Given the description of an element on the screen output the (x, y) to click on. 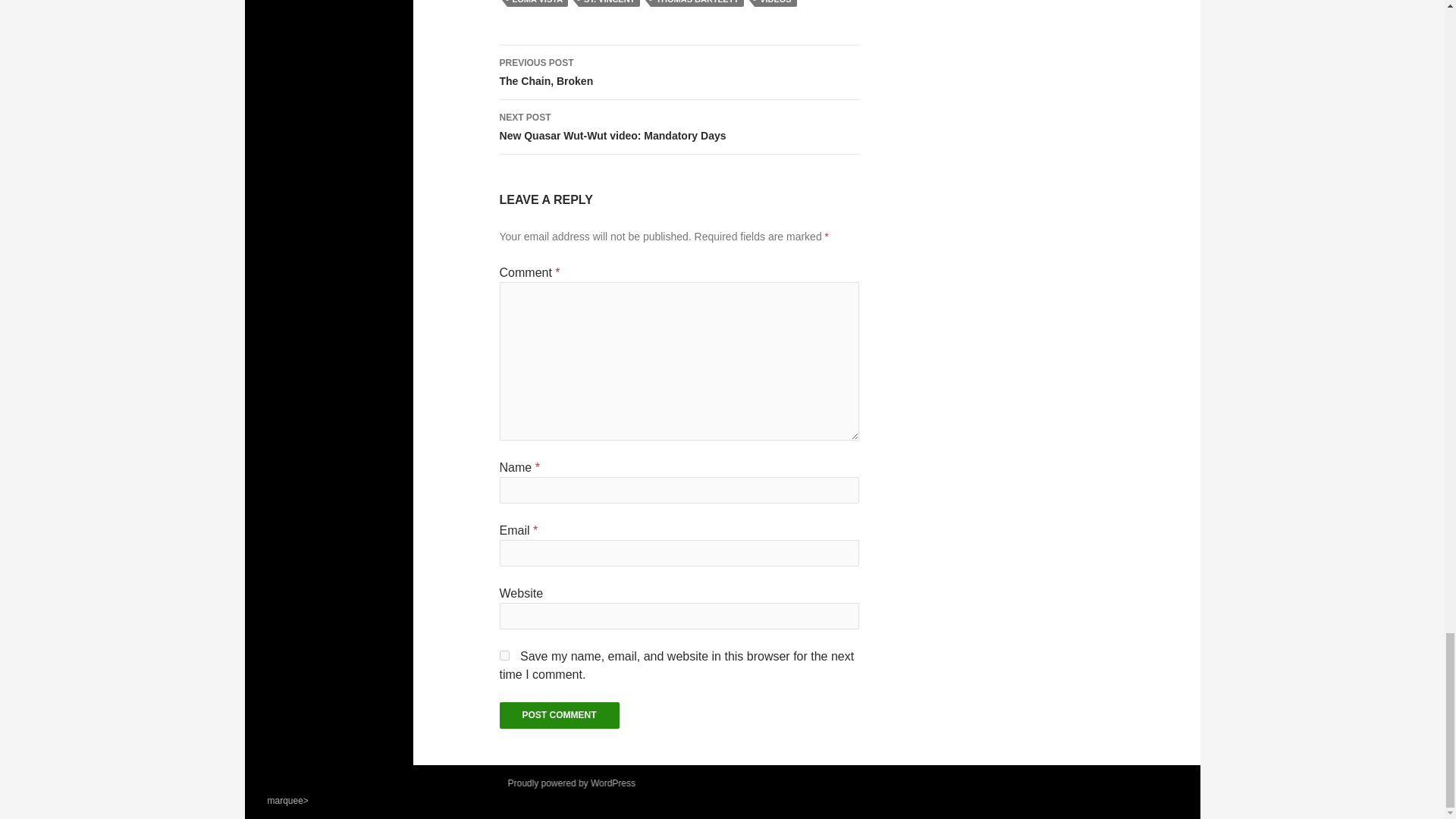
THOMAS BARTLETT (697, 3)
VIDEOS (775, 3)
LOMA VISTA (536, 3)
Post Comment (679, 72)
ST. VINCENT (559, 714)
yes (609, 3)
